Given the description of an element on the screen output the (x, y) to click on. 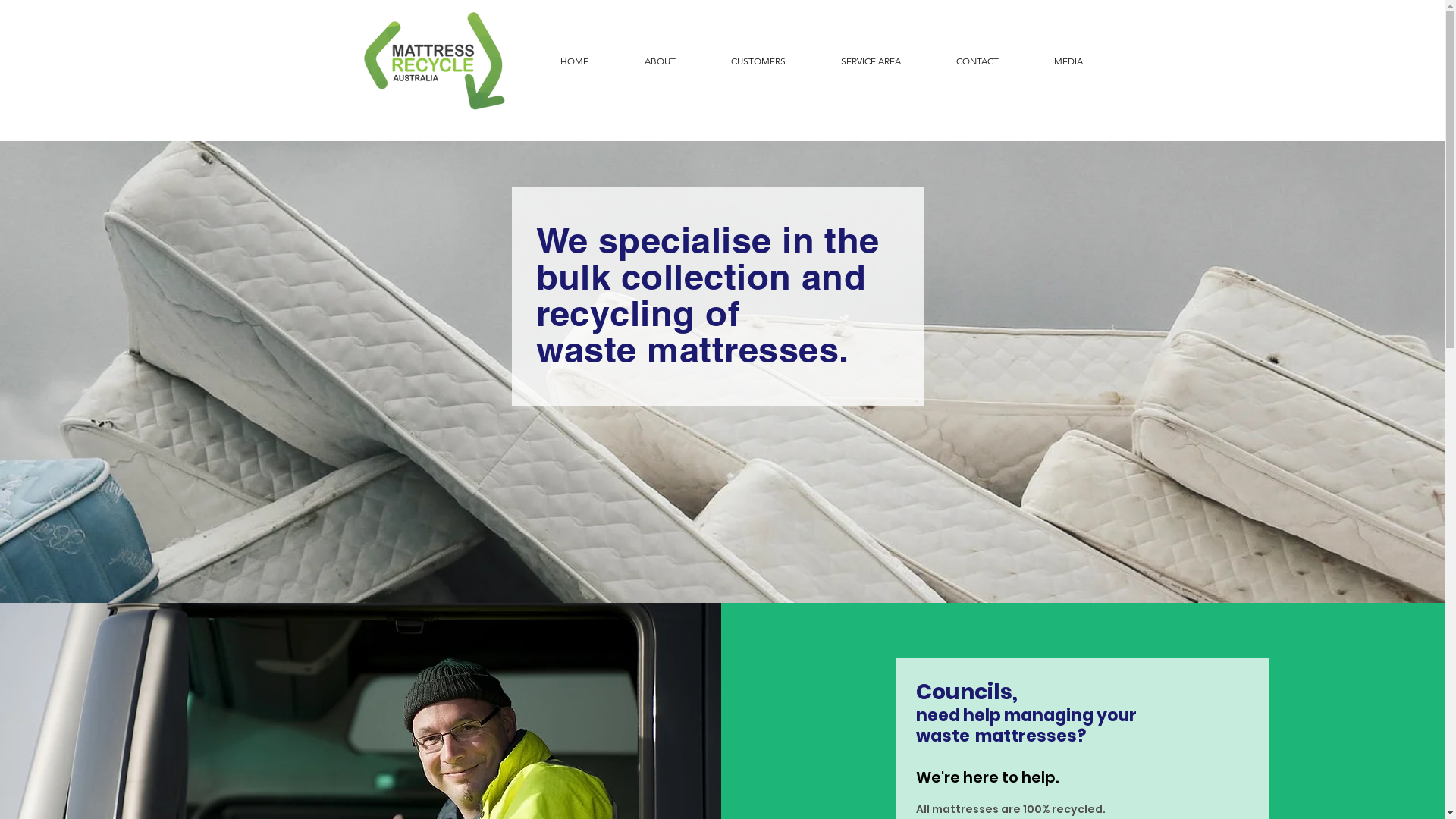
CUSTOMERS Element type: text (742, 61)
ABOUT Element type: text (642, 61)
HOME Element type: text (557, 61)
SERVICE AREA Element type: text (853, 61)
MEDIA Element type: text (1052, 61)
CONTACT Element type: text (960, 61)
